Given the description of an element on the screen output the (x, y) to click on. 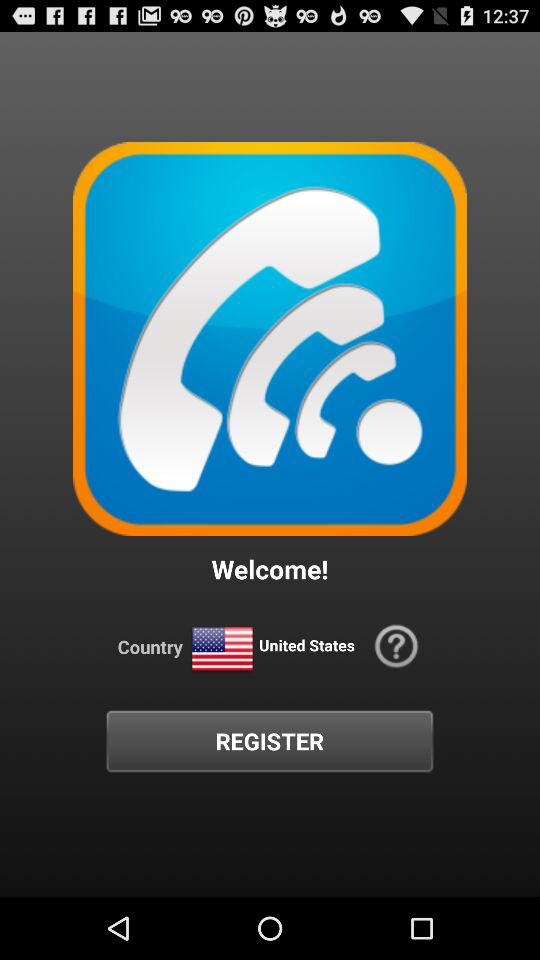
turn off the item below the welcome! app (221, 649)
